Given the description of an element on the screen output the (x, y) to click on. 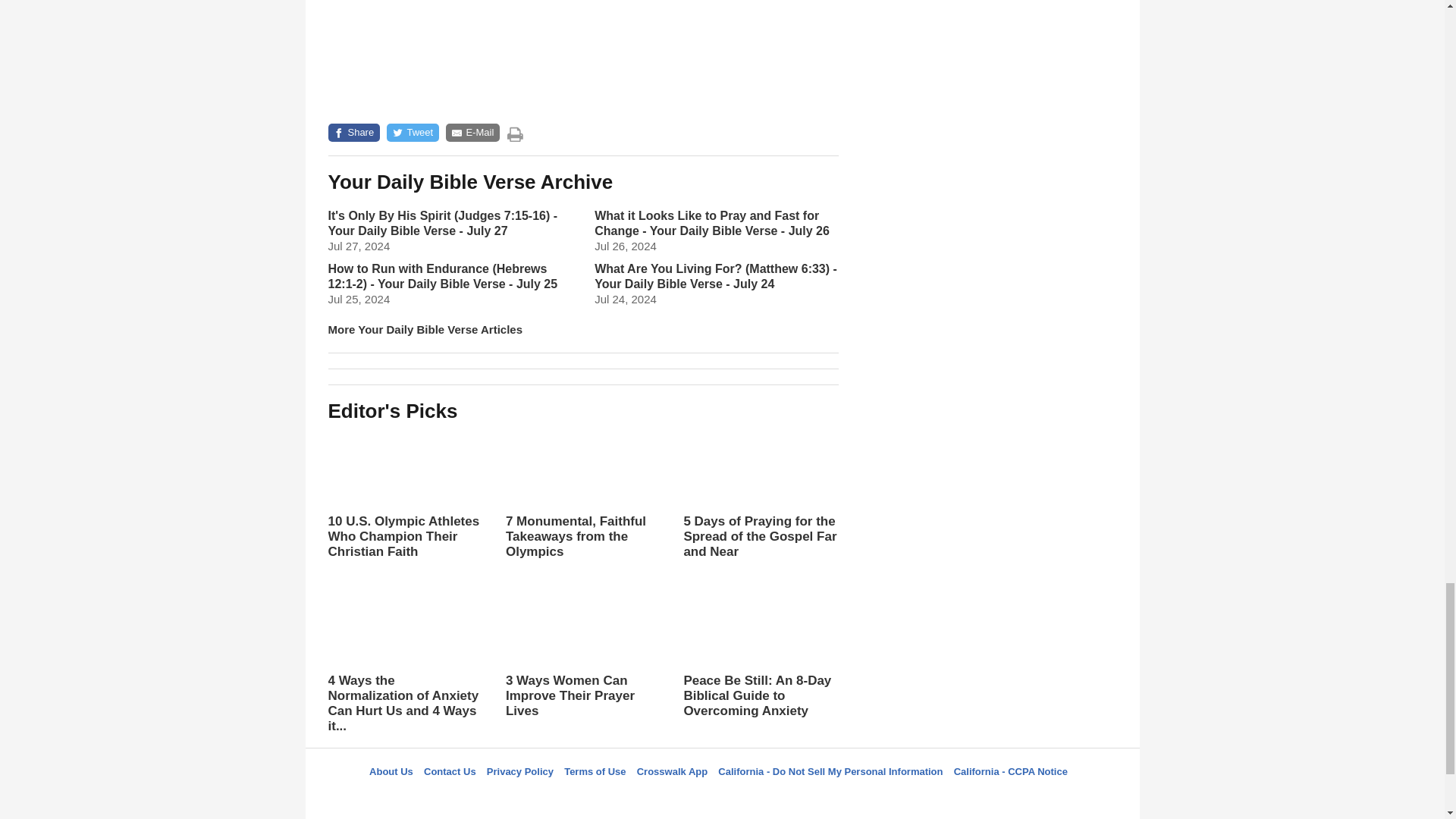
5 Days of Praying for the Spread of the Gospel Far and Near (760, 508)
3 Ways Women Can Improve Their Prayer Lives (583, 653)
LifeAudio (719, 798)
Facebook (645, 798)
Twitter (683, 798)
10 U.S. Olympic Athletes Who Champion Their Christian Faith (404, 494)
7 Monumental, Faithful Takeaways from the Olympics (583, 494)
